Given the description of an element on the screen output the (x, y) to click on. 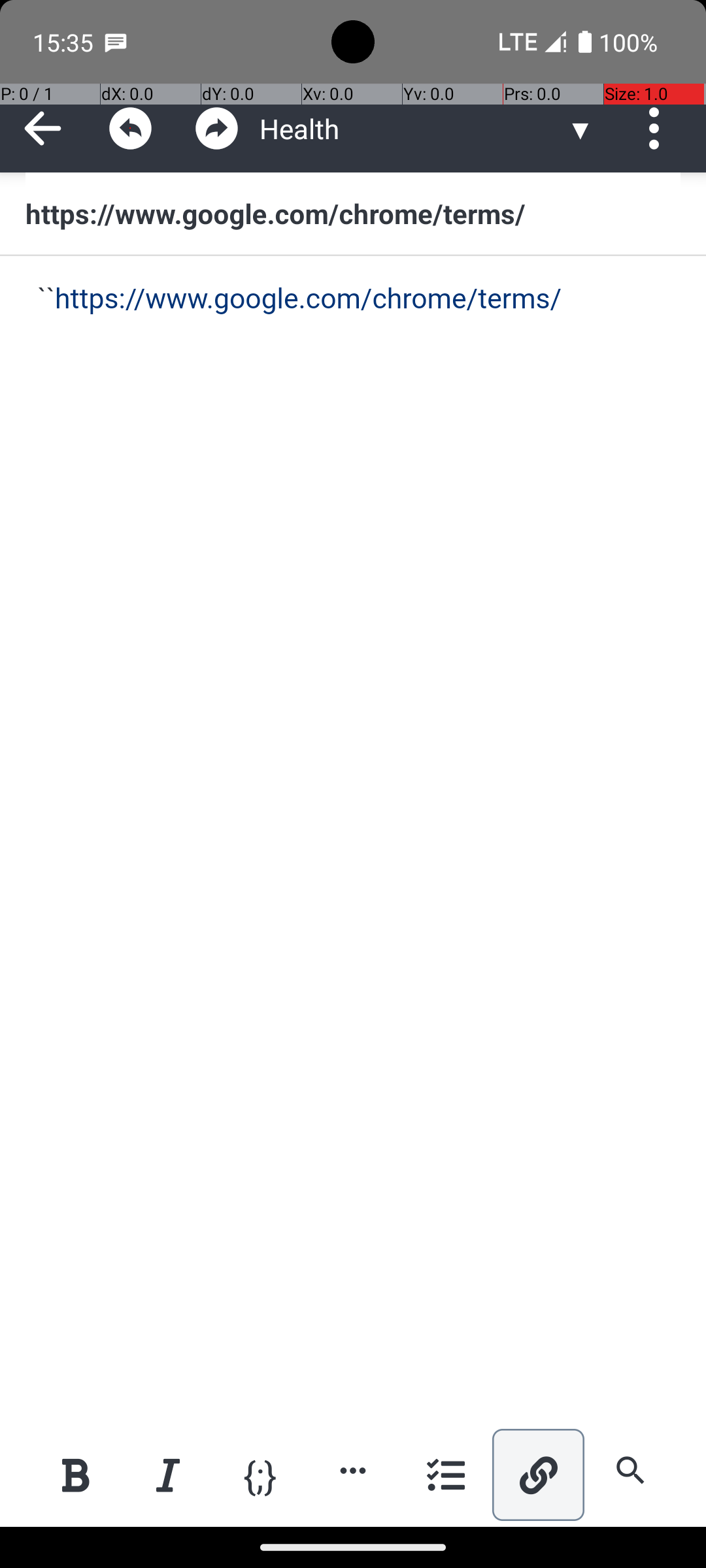
 Element type: android.widget.TextView (130, 127)
 Element type: android.widget.TextView (216, 127)
``https://www.google.com/chrome/terms/ Element type: android.widget.EditText (354, 298)
SMS Messenger notification: +15505050843 Element type: android.widget.ImageView (115, 41)
